Given the description of an element on the screen output the (x, y) to click on. 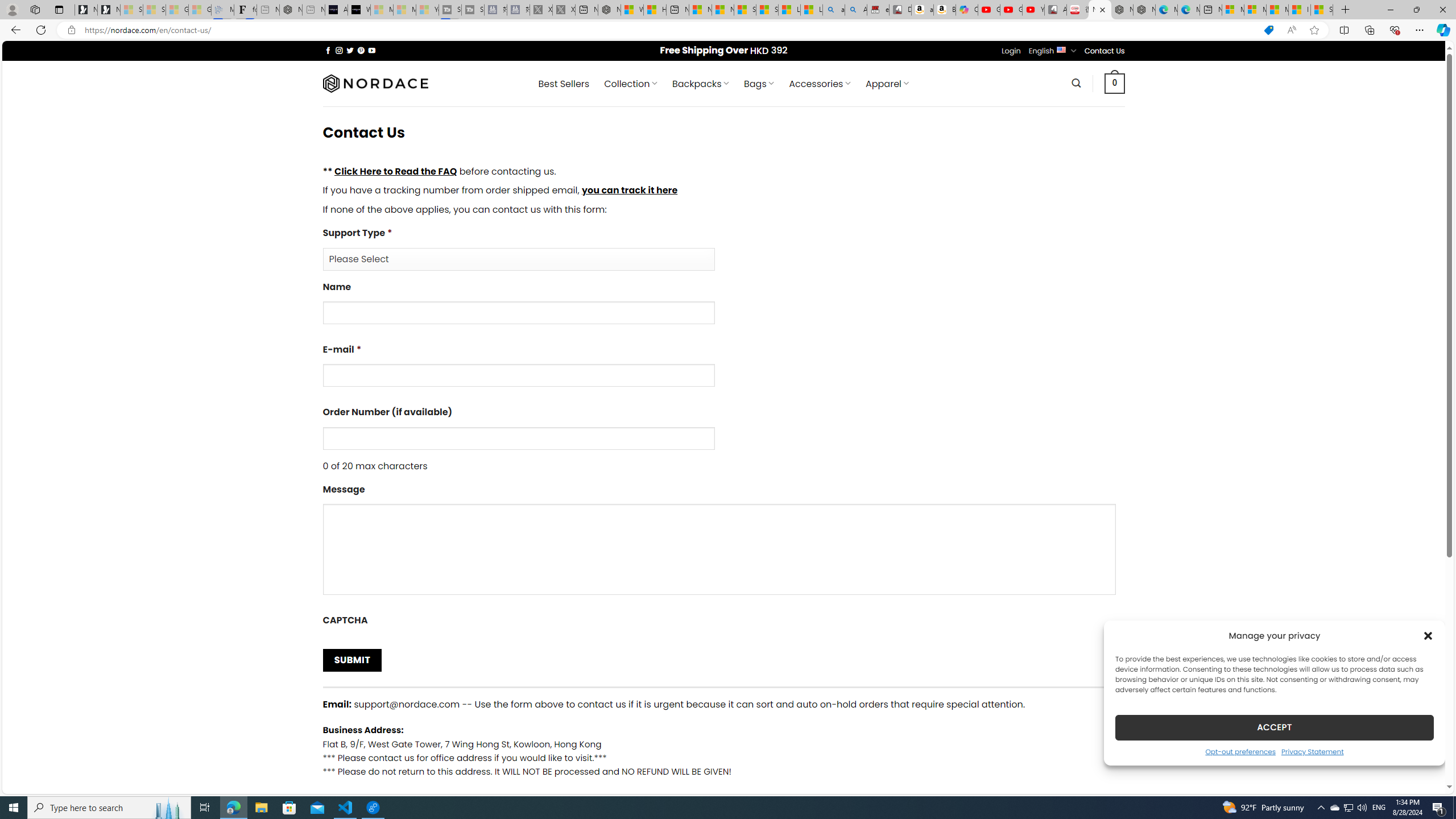
Back (13, 29)
What's the best AI voice generator? - voice.ai (359, 9)
This site has coupons! Shopping in Microsoft Edge (1268, 29)
Nordace - Nordace has arrived Hong Kong (1144, 9)
New tab - Sleeping (313, 9)
Newsletter Sign Up (109, 9)
Class: cmplz-close (1428, 635)
English (1061, 49)
Browser essentials (1394, 29)
CAPTCHA (723, 621)
Follow on YouTube (371, 49)
